Given the description of an element on the screen output the (x, y) to click on. 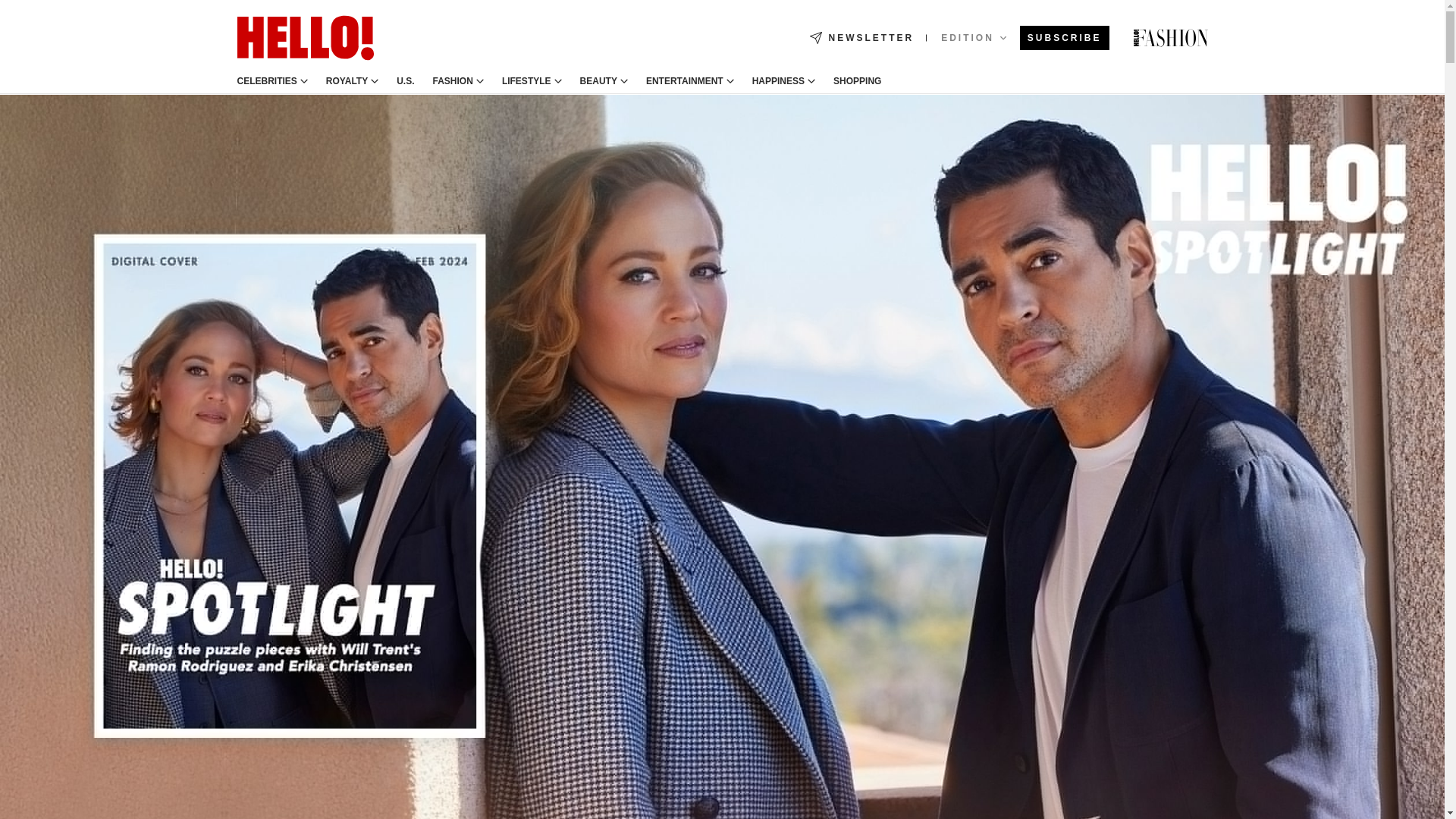
CELEBRITIES (266, 81)
BEAUTY (598, 81)
FASHION (452, 81)
NEWSLETTER (861, 38)
U.S. (404, 81)
ROYALTY (347, 81)
